Given the description of an element on the screen output the (x, y) to click on. 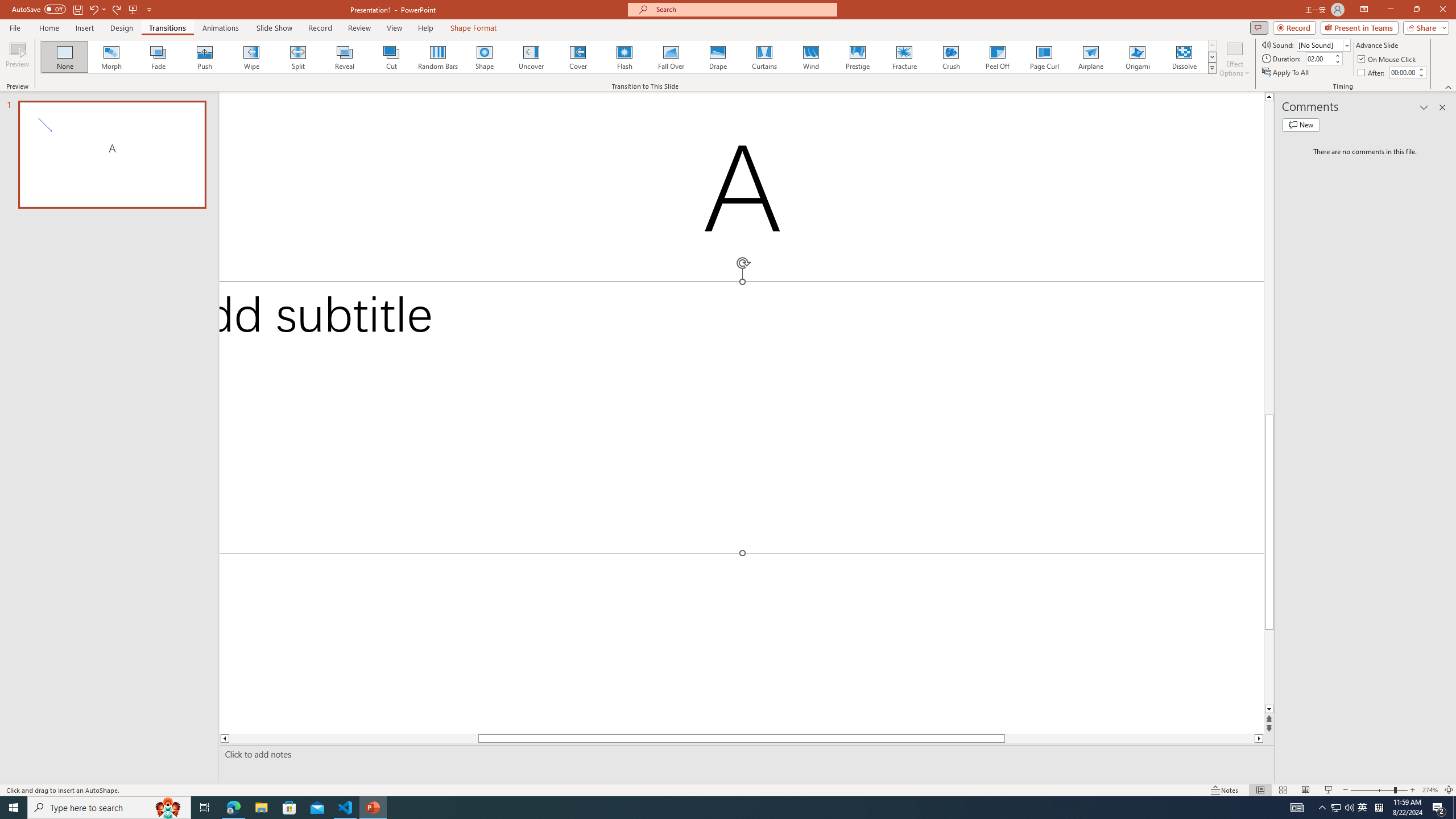
Peel Off (997, 56)
Airplane (1090, 56)
